Given the description of an element on the screen output the (x, y) to click on. 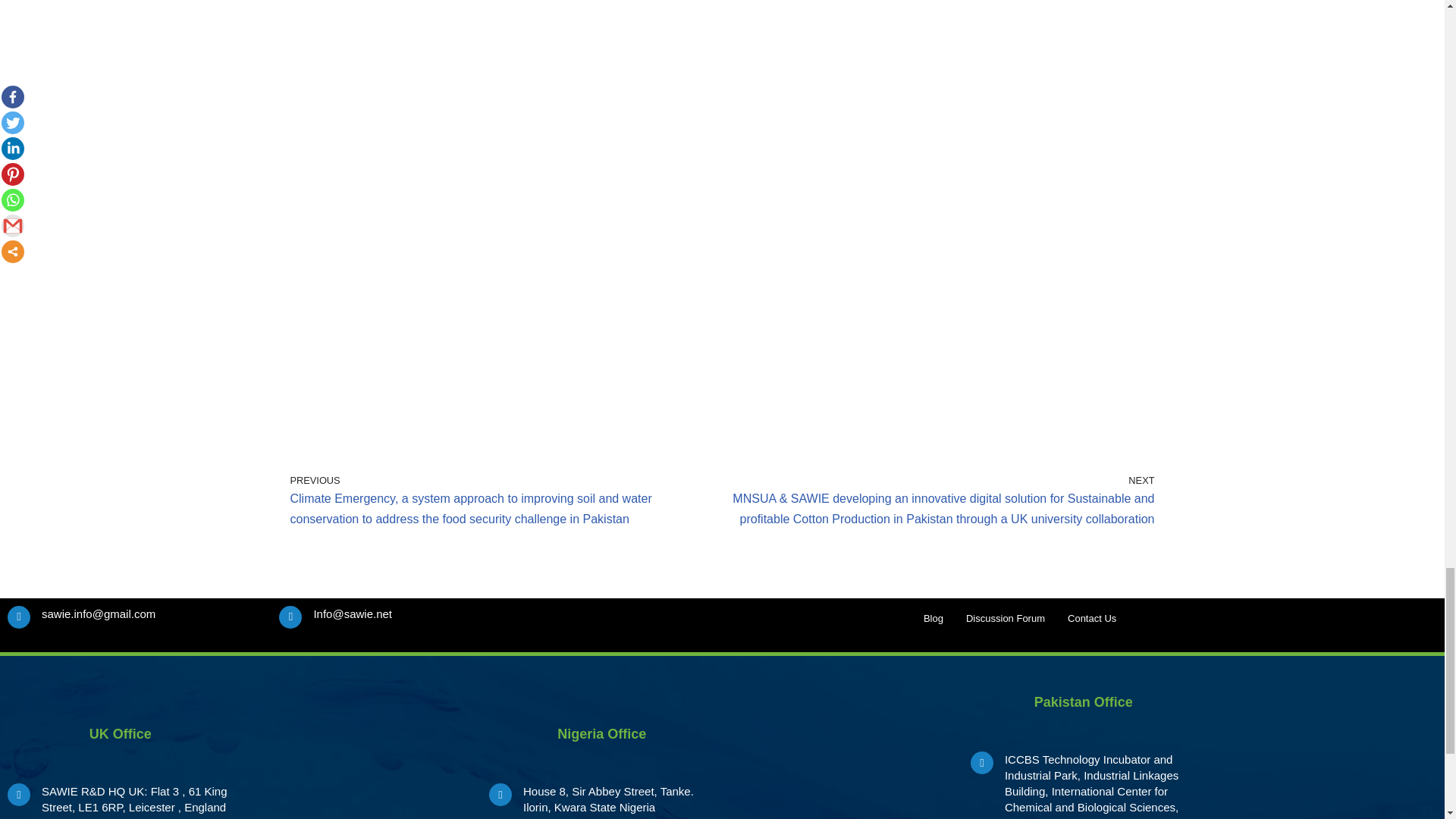
240102, Nigeria (842, 756)
University Of Karachi Karachi, Sindh, Pakistan (1323, 756)
